Given the description of an element on the screen output the (x, y) to click on. 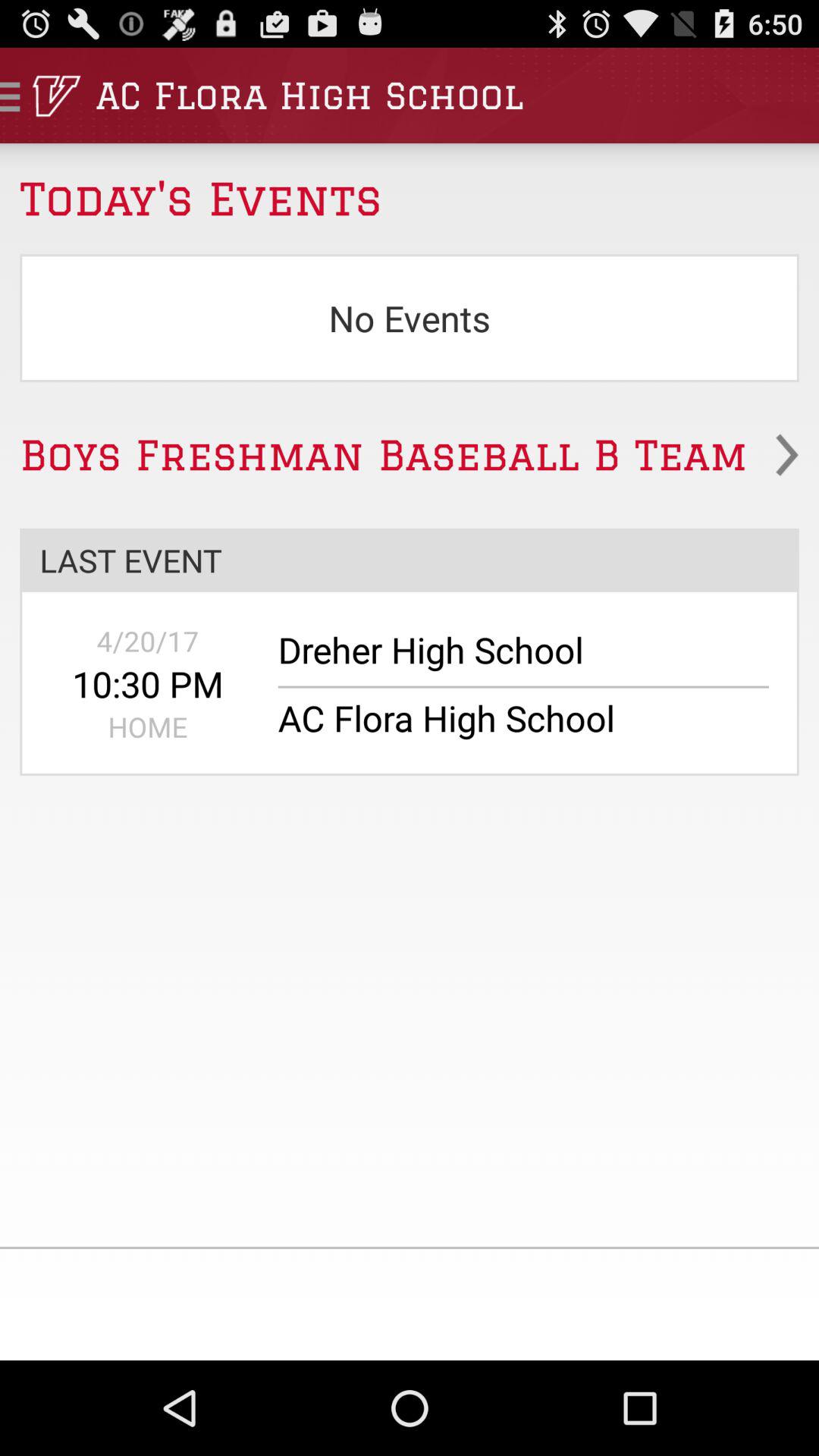
open last event icon (409, 560)
